Given the description of an element on the screen output the (x, y) to click on. 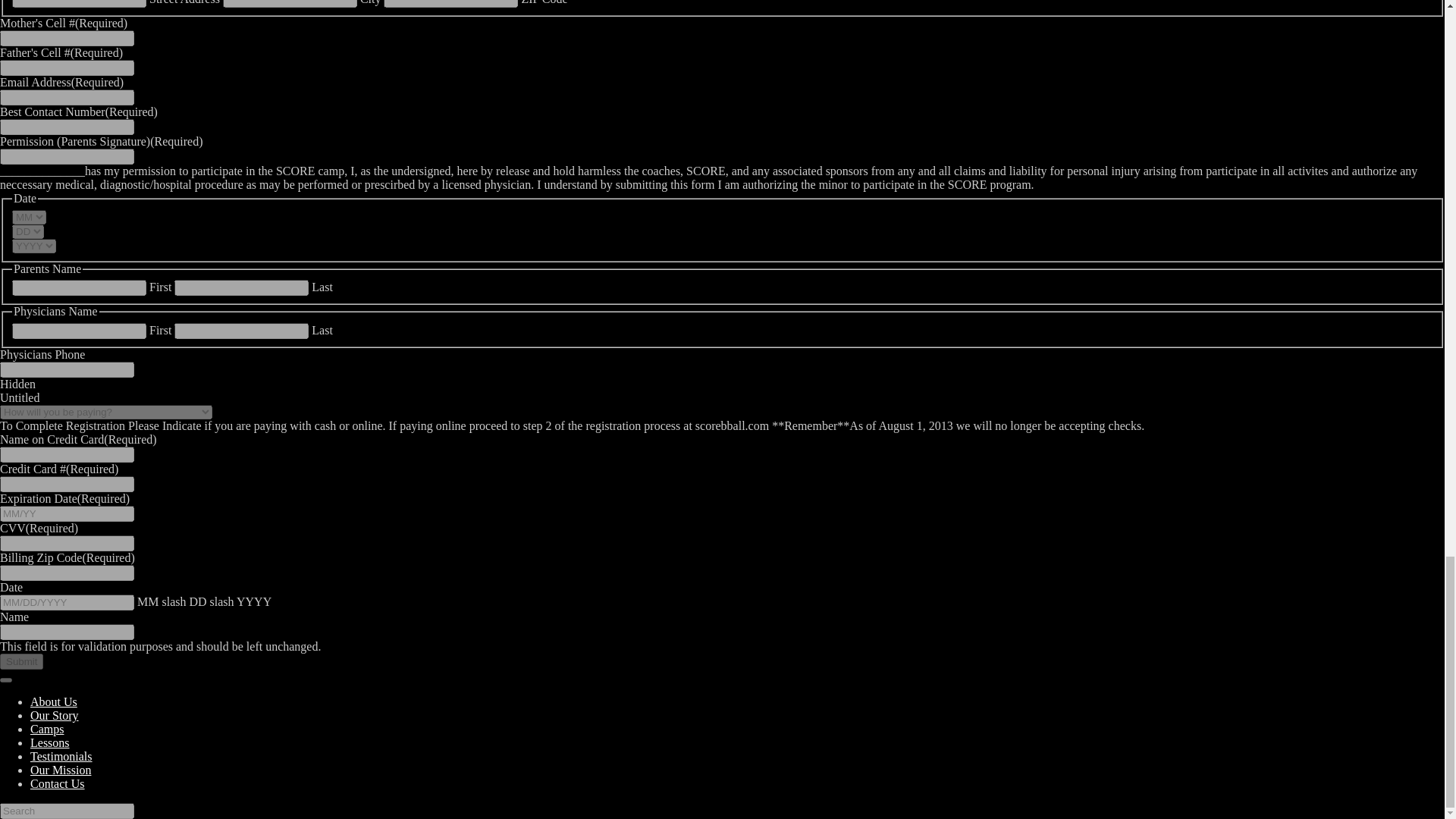
Lessons (49, 742)
Contact Us (57, 783)
Submit (21, 661)
Our Story (54, 715)
Our Mission (60, 769)
About Us (53, 701)
Camps (47, 728)
Testimonials (61, 756)
